Given the description of an element on the screen output the (x, y) to click on. 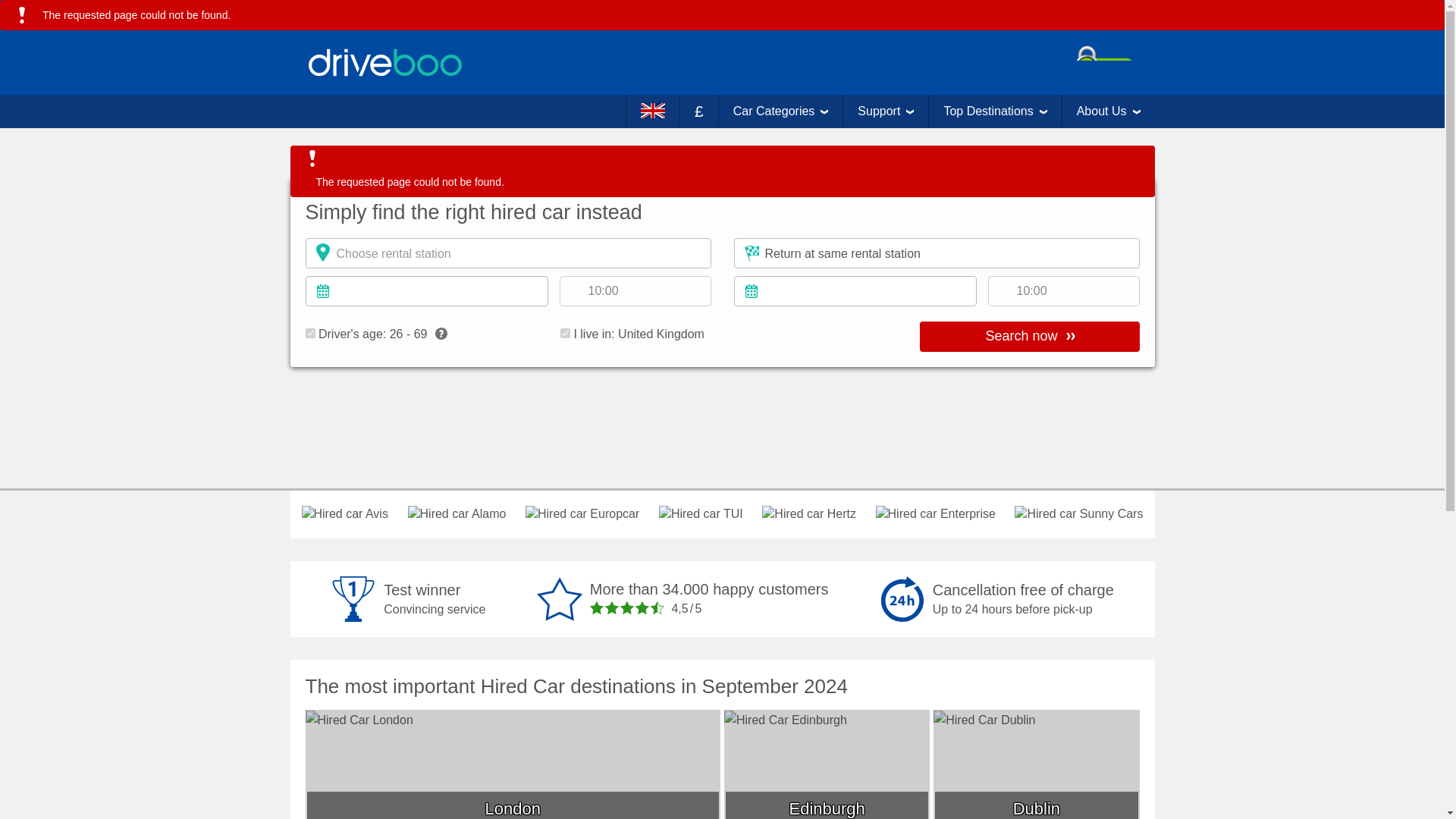
Return at same rental station (936, 253)
Driveboo AG (384, 61)
GB (565, 333)
Search and find cheap rental cars (1028, 336)
